Given the description of an element on the screen output the (x, y) to click on. 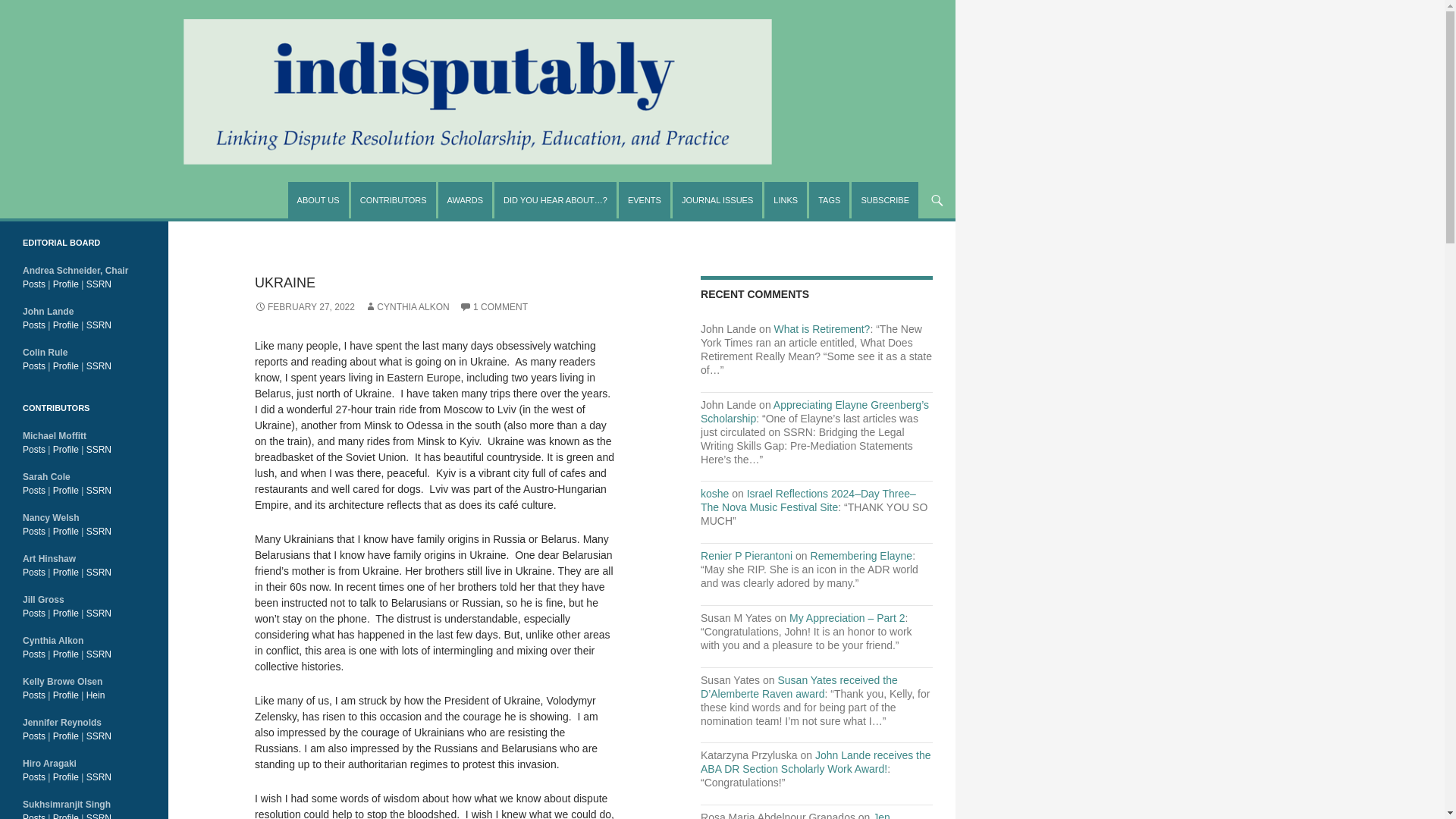
LINKS (785, 199)
koshe (714, 493)
TAGS (828, 199)
JOURNAL ISSUES (716, 199)
CYNTHIA ALKON (406, 307)
SUBSCRIBE (884, 199)
Renier P Pierantoni (746, 555)
1 COMMENT (493, 307)
ABOUT US (318, 199)
Indisputably (123, 214)
Jen Reynolds Named Interim Dean at Oregon (798, 815)
What is Retirement? (822, 328)
Remembering Elayne (861, 555)
